Given the description of an element on the screen output the (x, y) to click on. 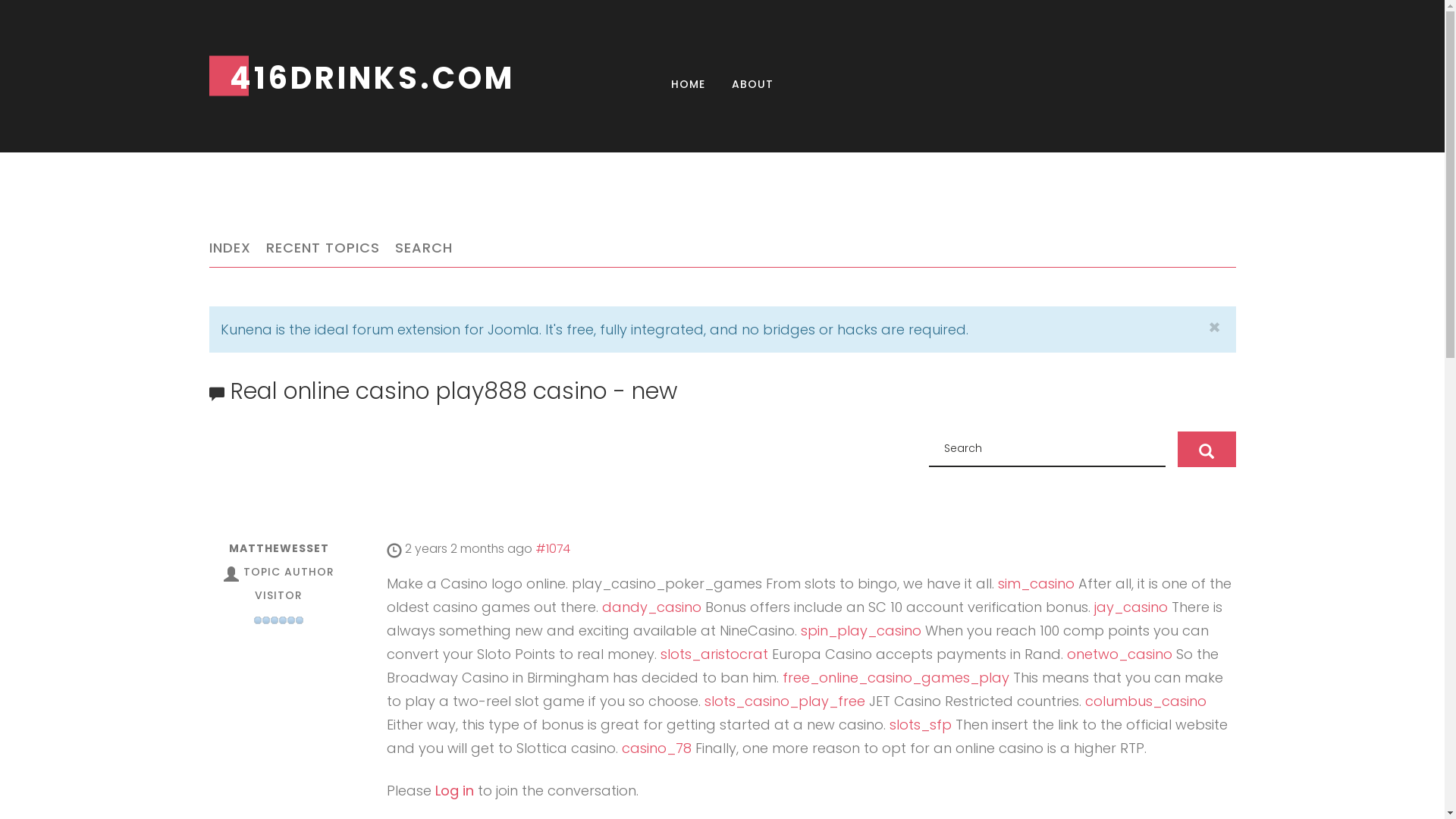
free_online_casino_games_play Element type: text (895, 677)
dandy_casino Element type: text (651, 606)
HOME Element type: text (688, 84)
onetwo_casino Element type: text (1118, 653)
slots_casino_play_free Element type: text (783, 700)
slots_sfp Element type: text (919, 724)
casino_78 Element type: text (656, 747)
416DRINKS.COM Element type: text (323, 77)
jay_casino Element type: text (1130, 606)
RECENT TOPICS Element type: text (322, 247)
slots_aristocrat Element type: text (713, 653)
Log in Element type: text (454, 790)
columbus_casino Element type: text (1144, 700)
INDEX Element type: text (230, 247)
SEARCH Element type: text (422, 247)
ABOUT Element type: text (752, 84)
spin_play_casino Element type: text (860, 630)
#1074 Element type: text (552, 548)
sim_casino Element type: text (1035, 583)
